Given the description of an element on the screen output the (x, y) to click on. 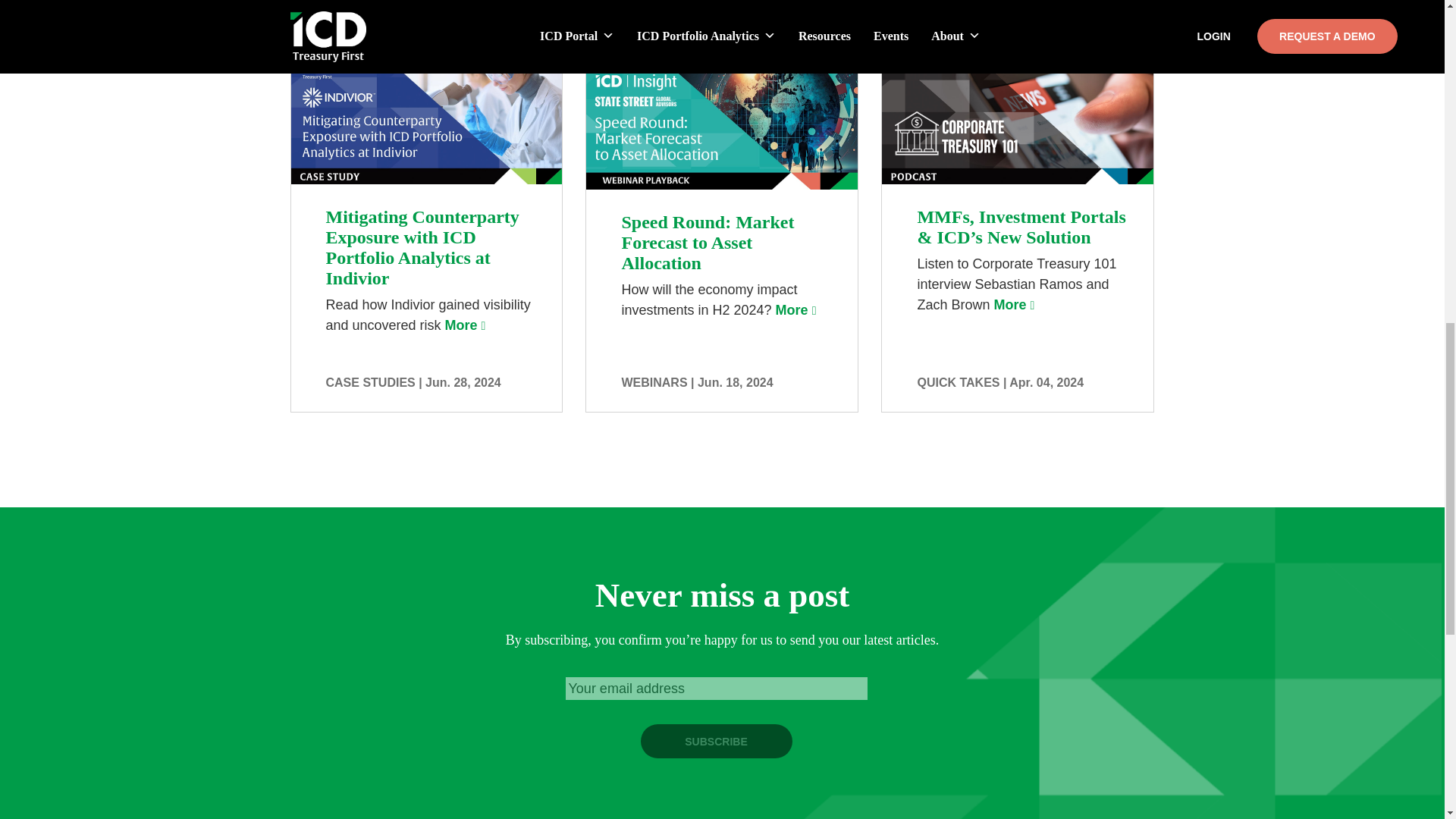
WEBINARS (654, 382)
More (796, 309)
More (465, 324)
Subscribe (716, 740)
More (1014, 304)
Speed Round: Market Forecast to Asset Allocation (796, 309)
Speed Round: Market Forecast to Asset Allocation (721, 162)
Subscribe (716, 740)
CASE STUDIES (370, 382)
Speed Round: Market Forecast to Asset Allocation (721, 162)
QUICK TAKES (957, 382)
